Given the description of an element on the screen output the (x, y) to click on. 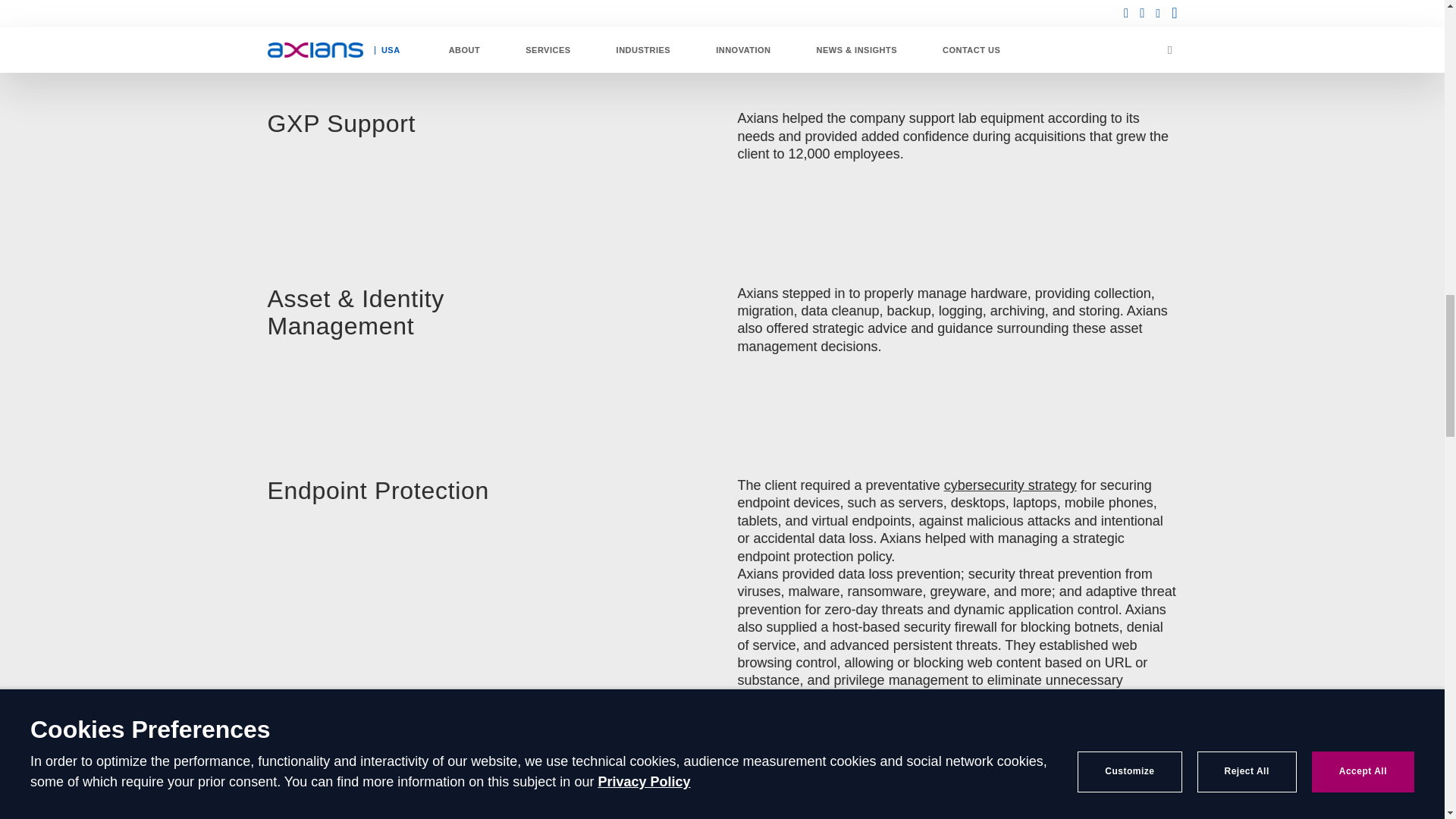
cybersecurity strategy (1010, 485)
